Given the description of an element on the screen output the (x, y) to click on. 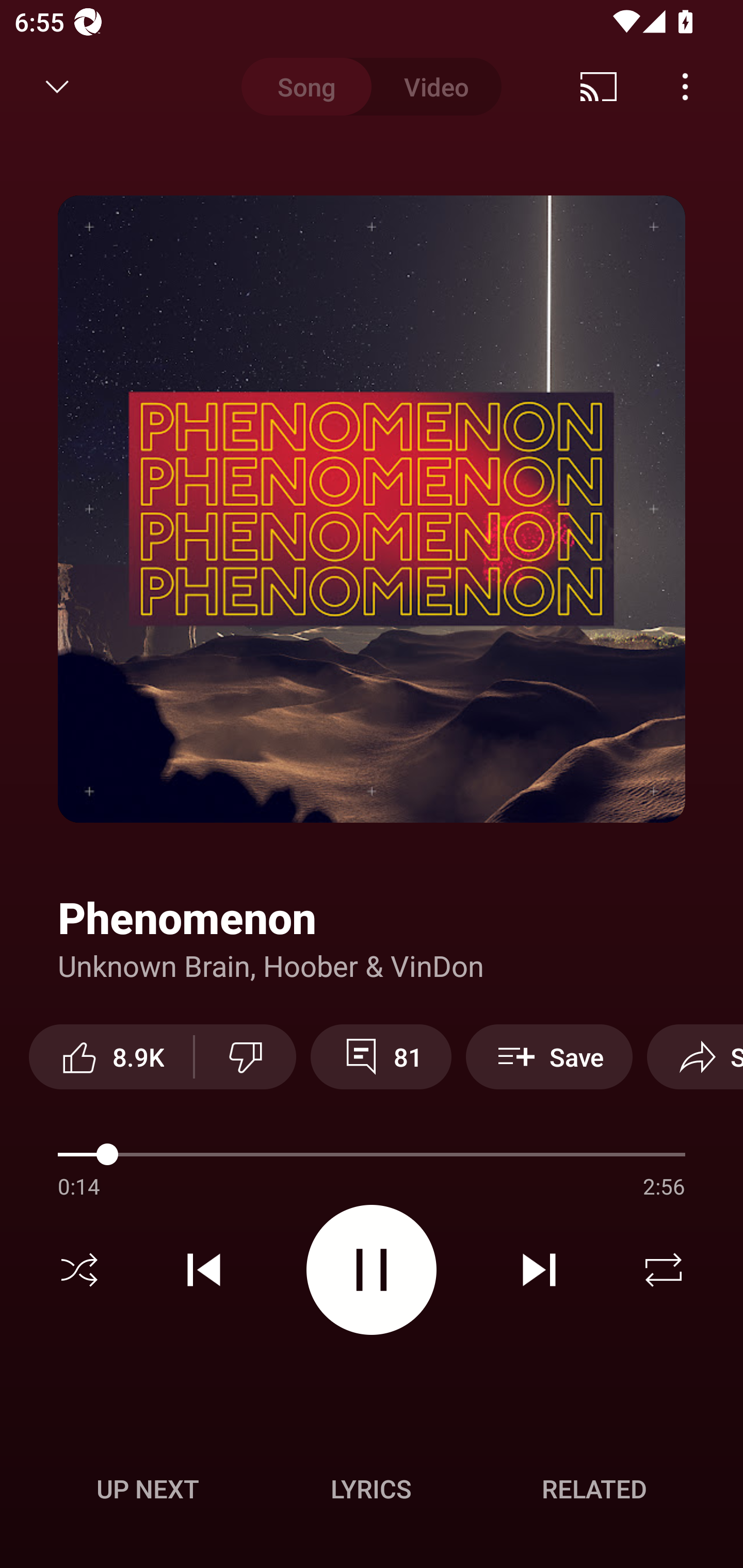
Minimize (57, 86)
Cast. Disconnected (598, 86)
Menu (684, 86)
8.9K like this video along with 8,972 other people (110, 1056)
Dislike (245, 1056)
81 View 81 comments (380, 1056)
Save Save to playlist (548, 1056)
Share (695, 1056)
Pause video (371, 1269)
Shuffle off (79, 1269)
Previous track (203, 1269)
Next track (538, 1269)
Repeat off (663, 1269)
Up next UP NEXT Lyrics LYRICS Related RELATED (371, 1491)
Lyrics LYRICS (370, 1488)
Related RELATED (594, 1488)
